Given the description of an element on the screen output the (x, y) to click on. 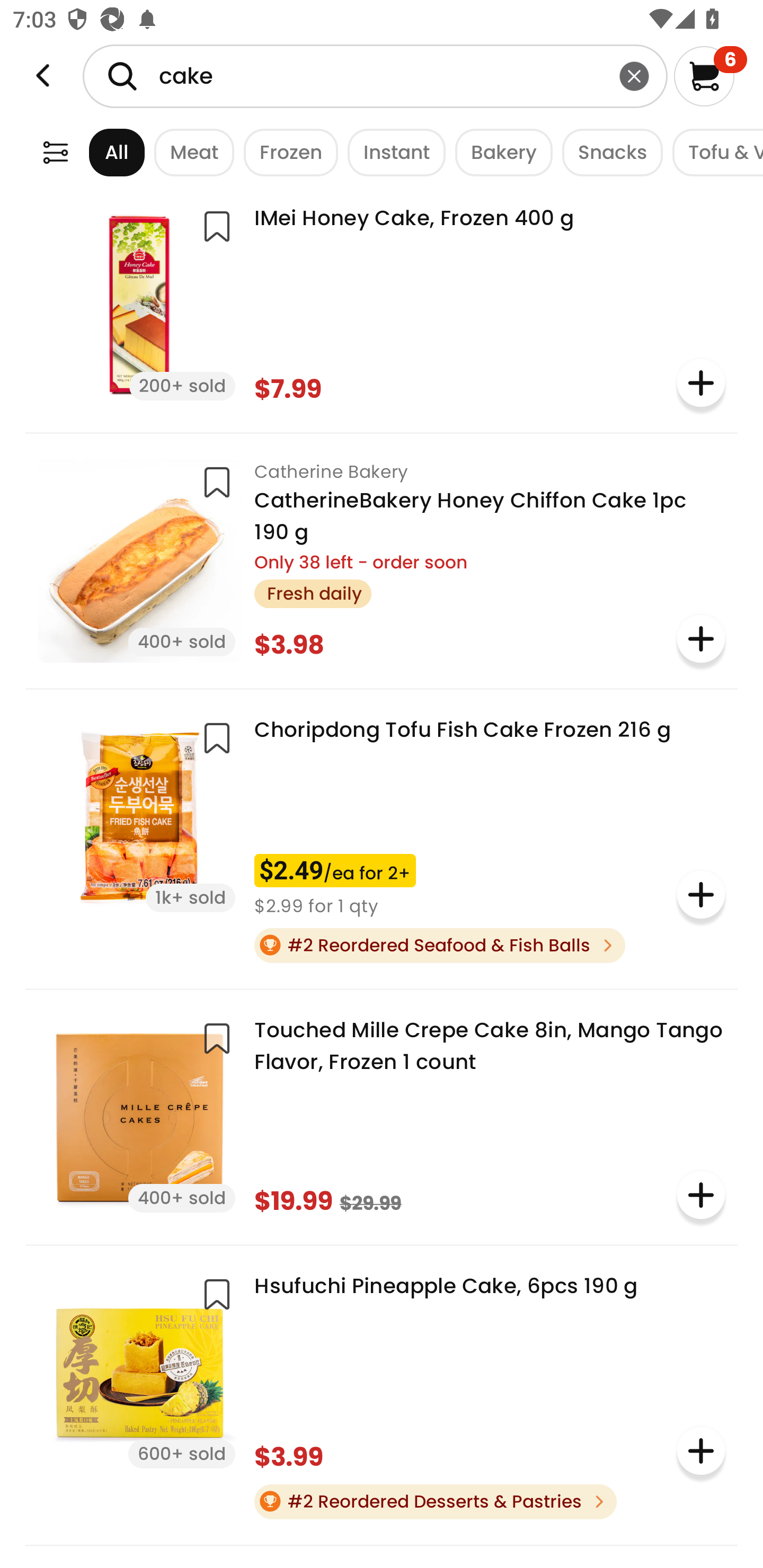
cake (374, 75)
6 (709, 75)
Weee! (42, 76)
Weee! (55, 151)
All (99, 151)
Meat (189, 151)
Frozen (286, 151)
Instant (391, 151)
Bakery (498, 151)
Snacks (607, 151)
Tofu & Vegan (713, 151)
IMei Honey Cake, Frozen 400 g 200+ sold $7.99 (381, 304)
